Given the description of an element on the screen output the (x, y) to click on. 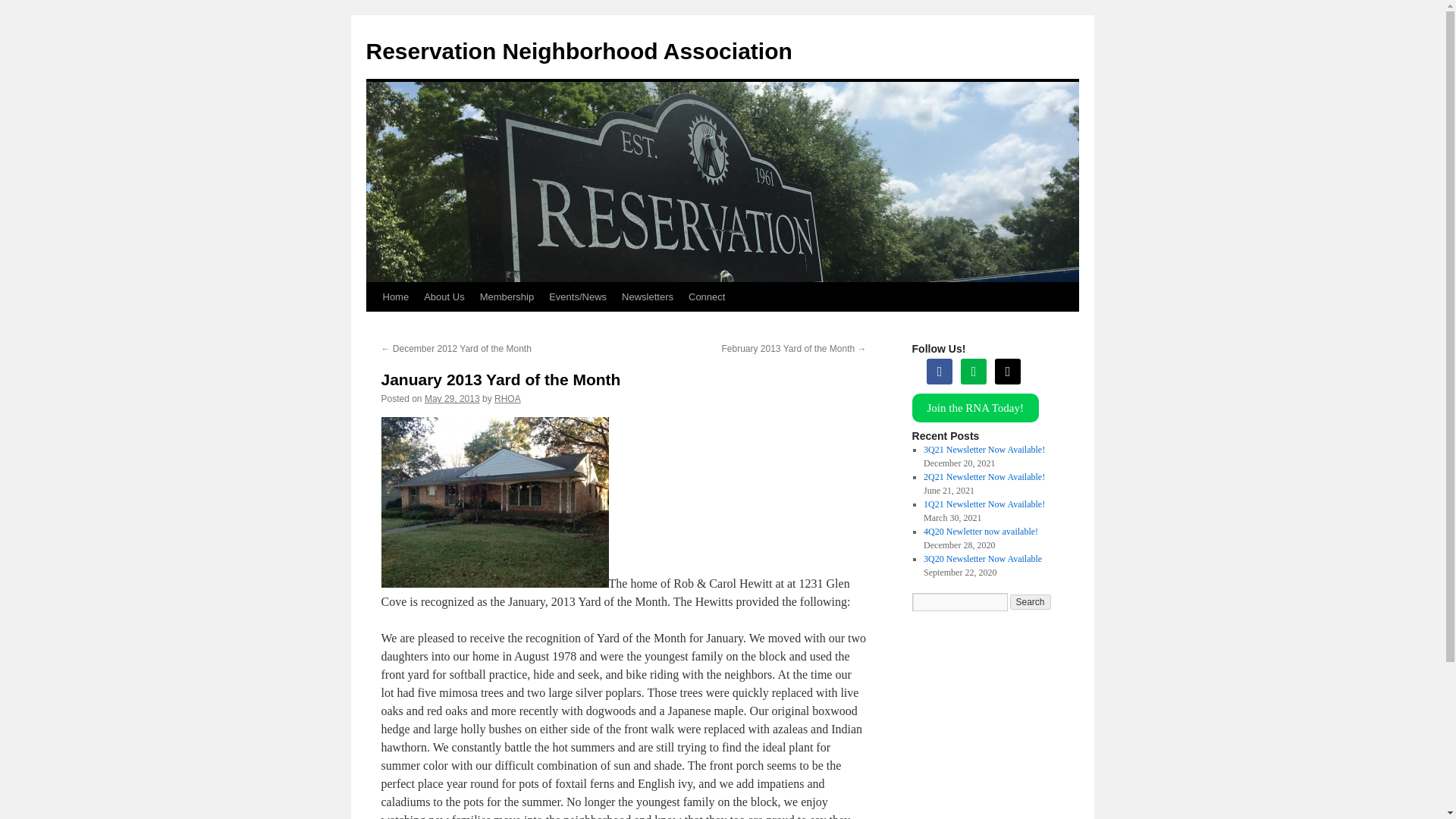
May 29, 2013 (452, 398)
Reservation Neighborhood Association (578, 50)
3Q21 Newsletter Now Available! (984, 449)
1Q21 Newsletter Now Available! (984, 503)
About Us (443, 297)
4:35 pm (452, 398)
Membership (506, 297)
Reservation Neighborhood Association (578, 50)
3Q20 Newsletter Now Available (982, 558)
Connect (706, 297)
RHOA (508, 398)
mail (1007, 370)
Search (1030, 601)
1231GlenCove (494, 502)
Facebook (939, 370)
